Given the description of an element on the screen output the (x, y) to click on. 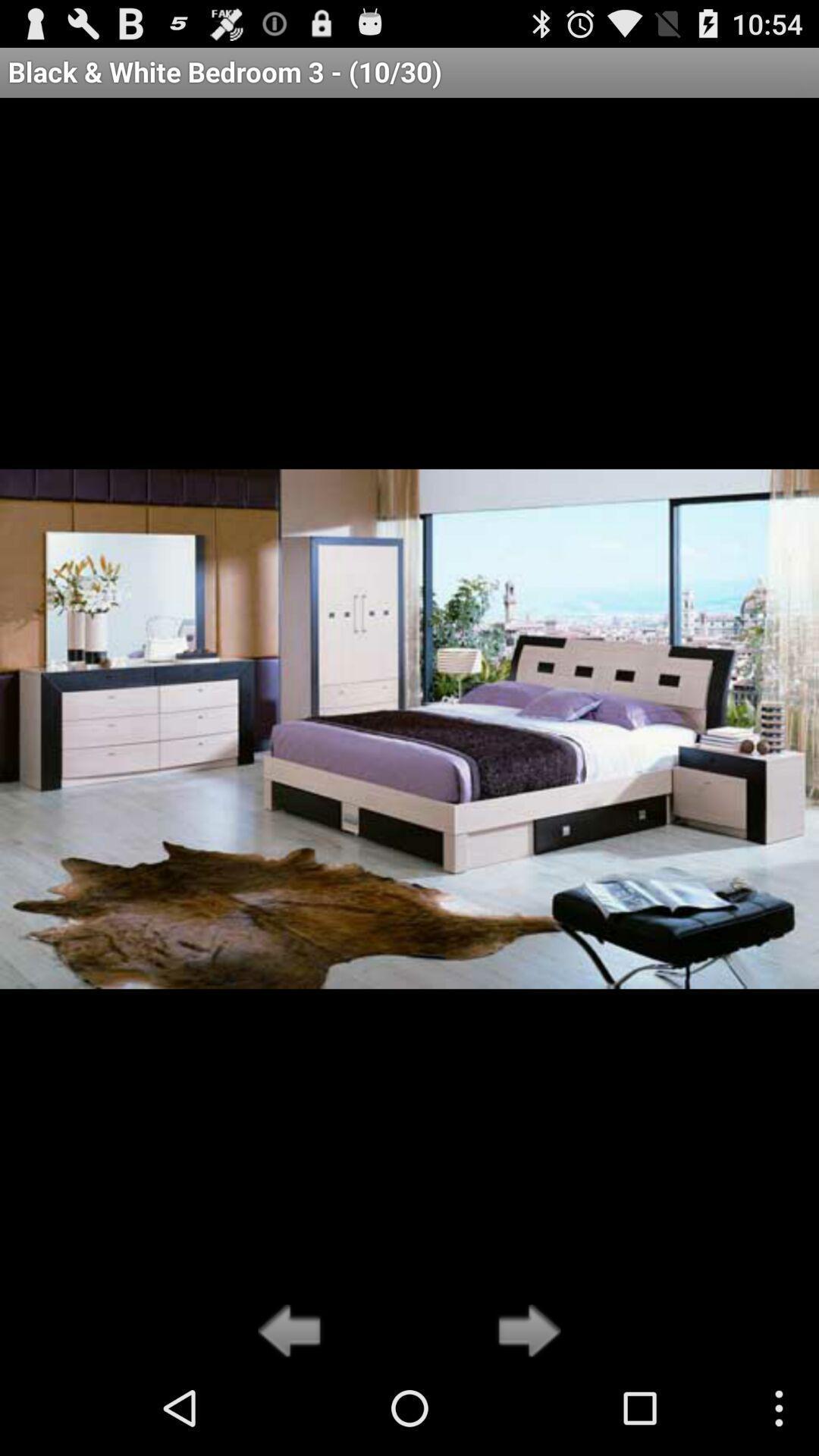
go forward (524, 1332)
